Given the description of an element on the screen output the (x, y) to click on. 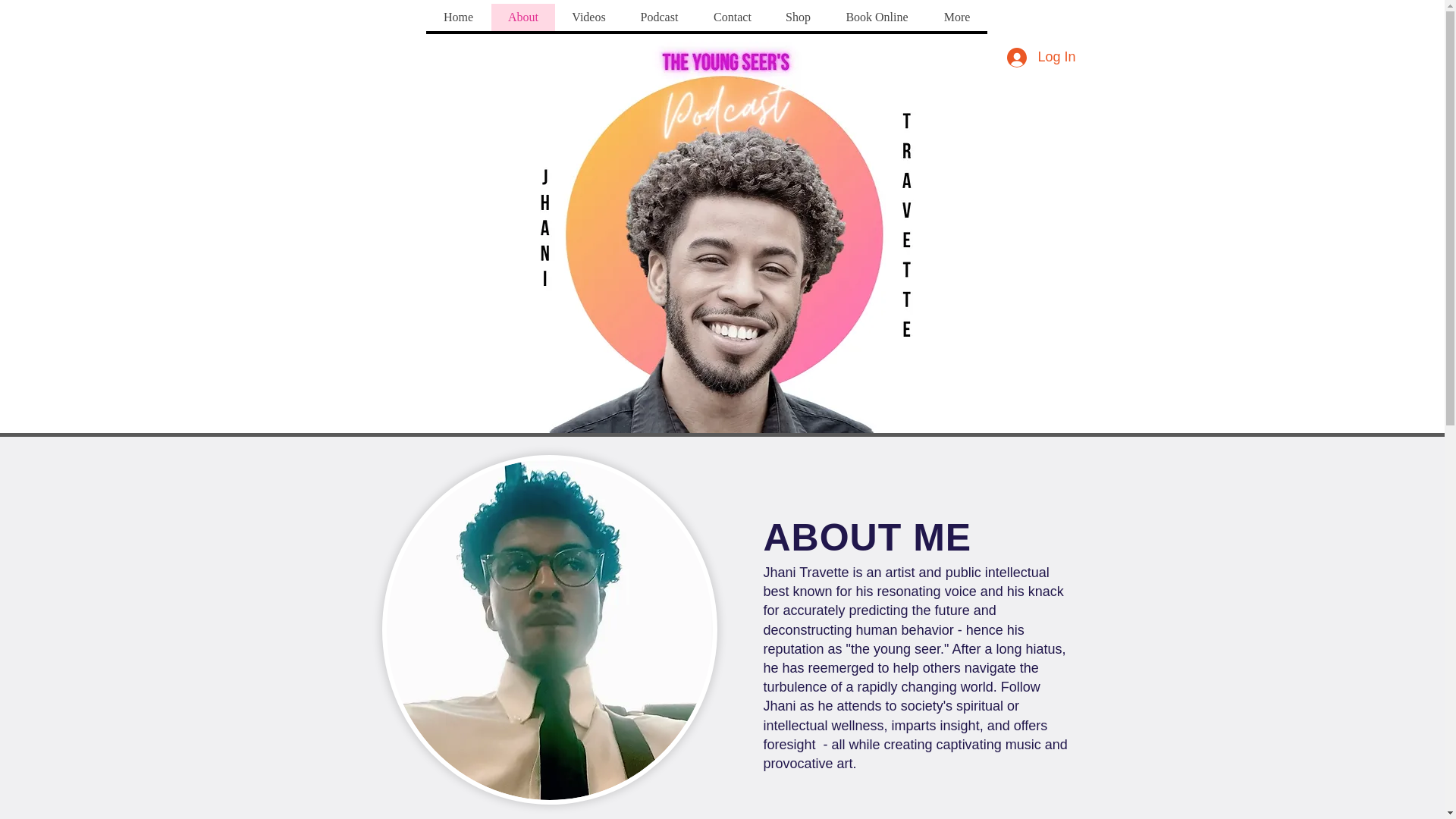
Home (459, 17)
THE COMEDIAN (723, 256)
About (523, 17)
Contact (731, 17)
Shop (797, 17)
Podcast (658, 17)
Log In (1040, 57)
Book Online (876, 17)
Videos (588, 17)
